Given the description of an element on the screen output the (x, y) to click on. 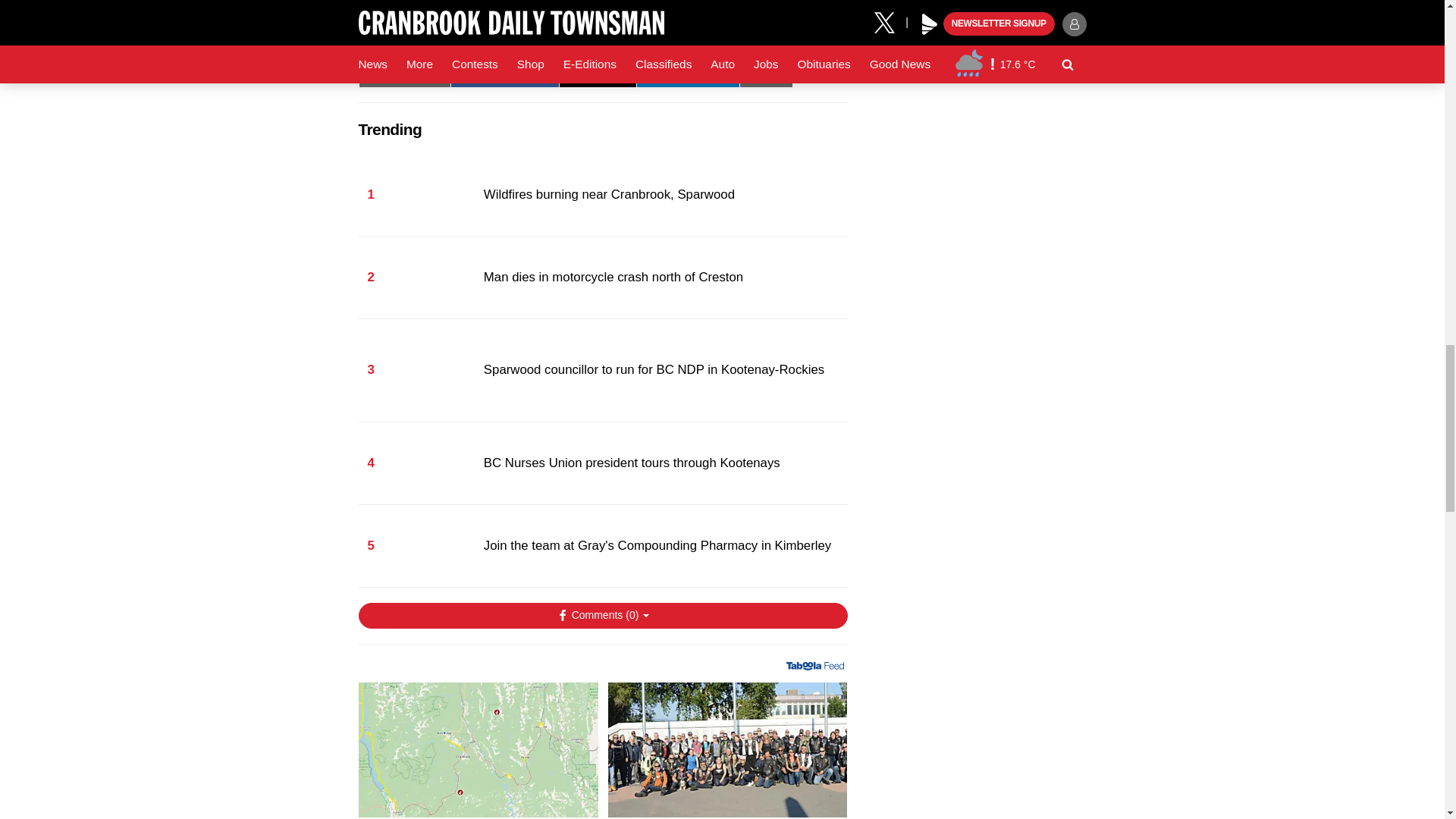
Show Comments (602, 615)
